Given the description of an element on the screen output the (x, y) to click on. 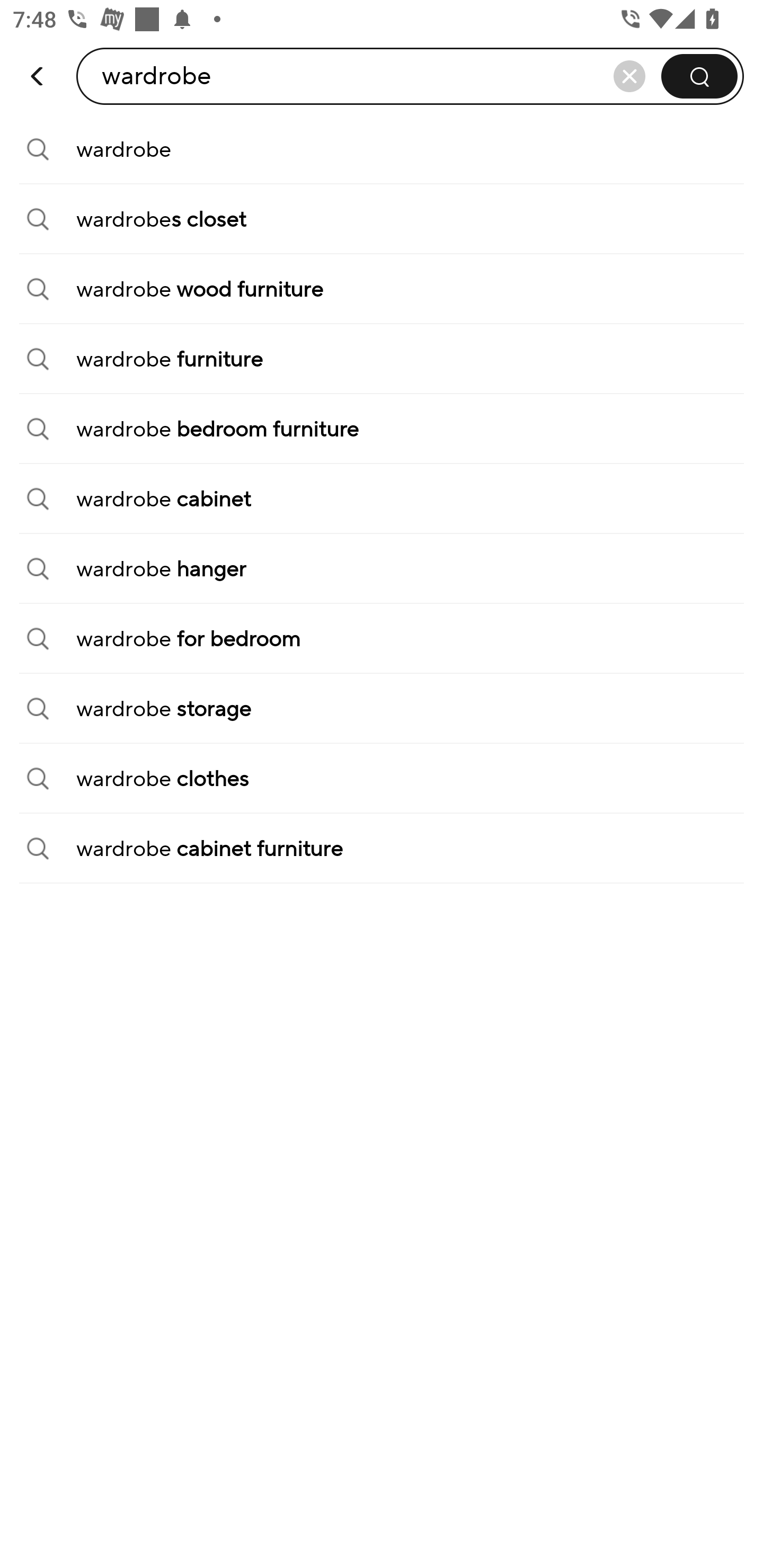
wardrobe I'm shopping for… (203, 76)
wardrobe (381, 149)
wardrobes closet (381, 219)
wardrobe wood furniture (381, 289)
wardrobe furniture (381, 358)
wardrobe bedroom furniture (381, 428)
wardrobe cabinet (381, 499)
wardrobe hanger (381, 568)
wardrobe for bedroom (381, 638)
wardrobe storage (381, 708)
wardrobe clothes (381, 778)
wardrobe cabinet furniture (381, 848)
